Given the description of an element on the screen output the (x, y) to click on. 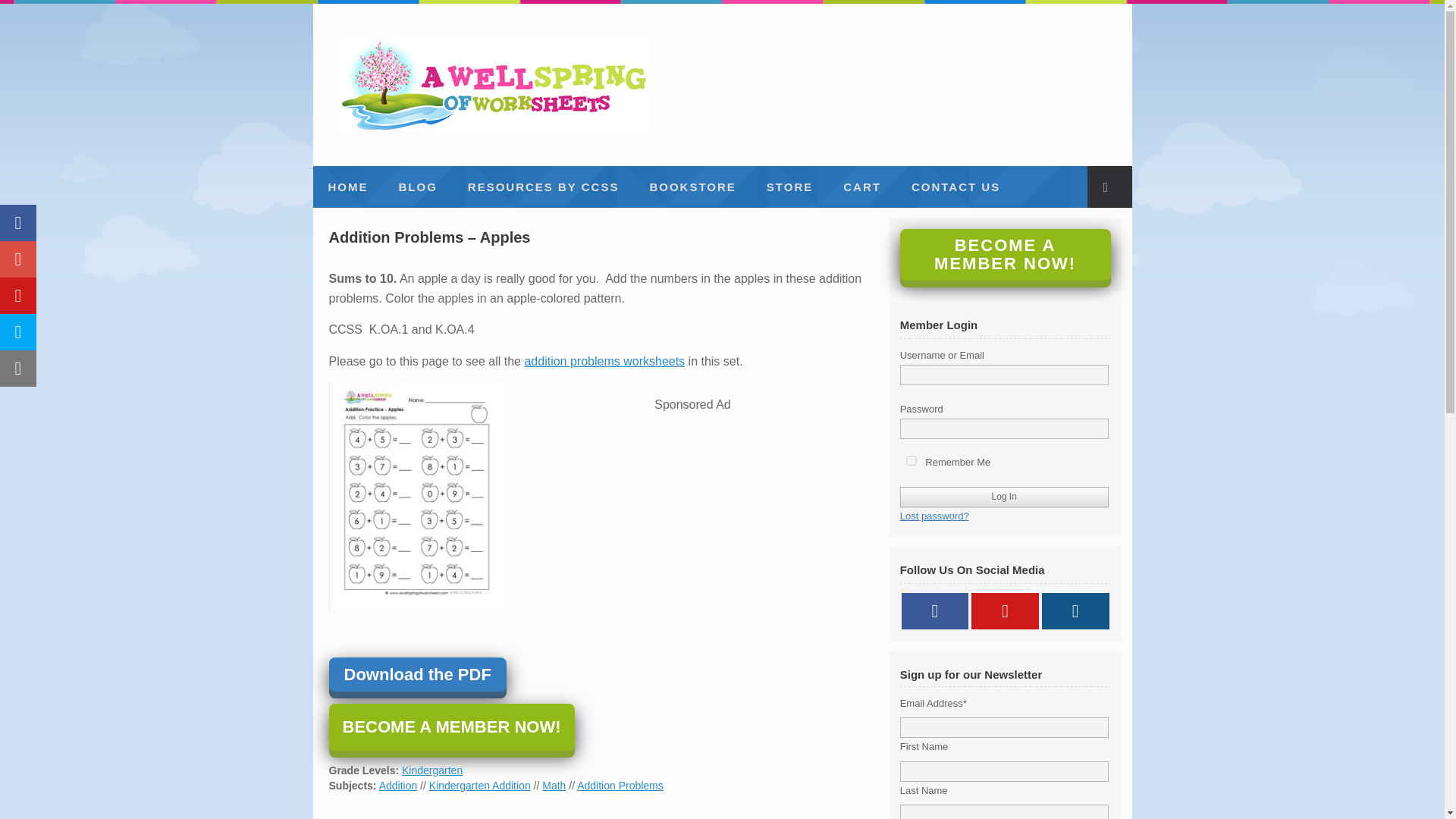
addition problems worksheets (604, 360)
Addition (397, 785)
BLOG (418, 186)
Log In (1003, 496)
Addition Problems (619, 785)
Math (553, 785)
A Wellspring of Worksheets (494, 84)
BECOME A MEMBER NOW! (1004, 254)
Kindergarten (432, 770)
BECOME A MEMBER NOW! (452, 727)
